Given the description of an element on the screen output the (x, y) to click on. 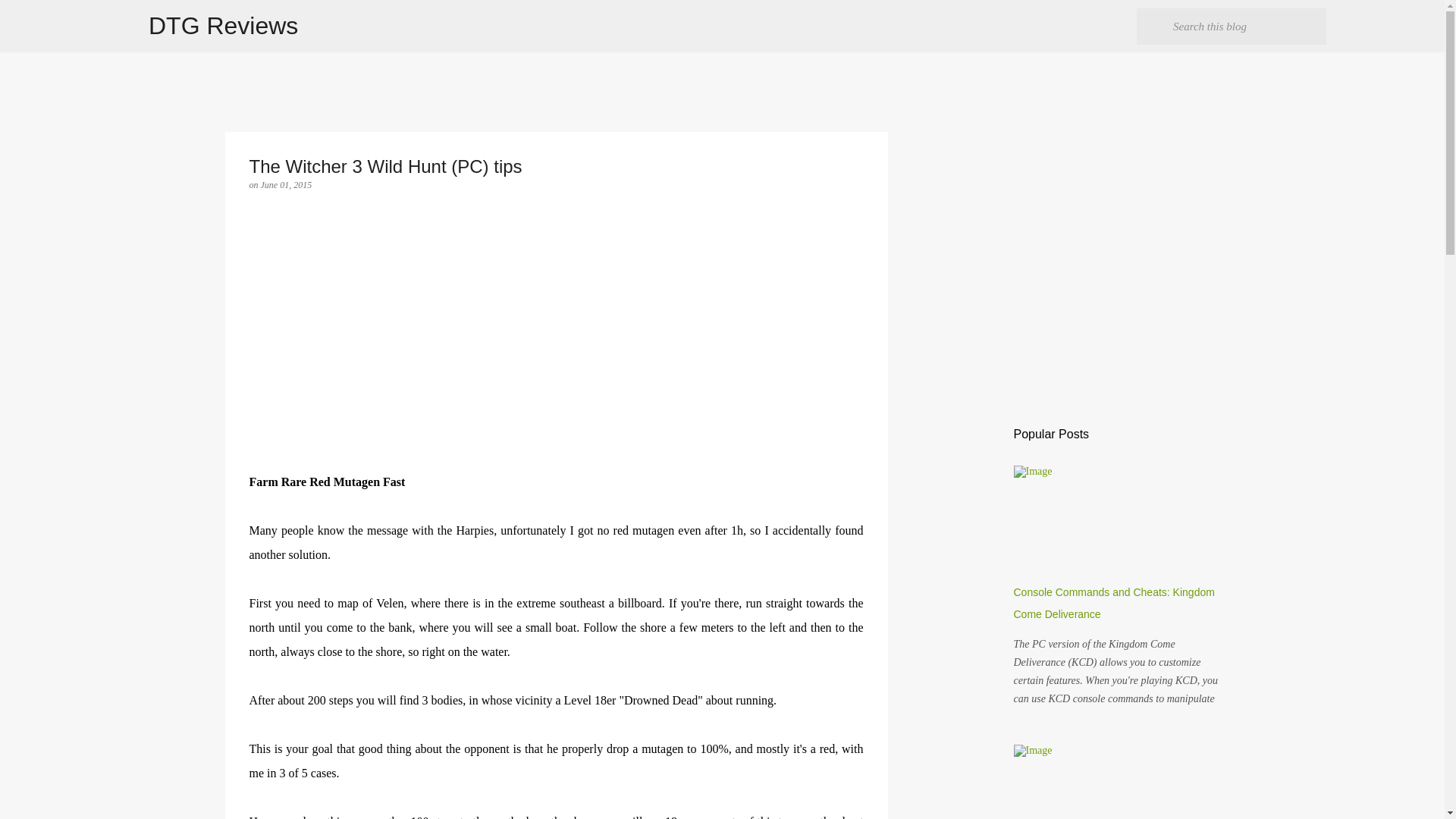
June 01, 2015 (286, 184)
Advertisement (555, 363)
Console Commands and Cheats: Kingdom Come Deliverance (1113, 602)
DTG Reviews (223, 25)
permanent link (286, 184)
